Given the description of an element on the screen output the (x, y) to click on. 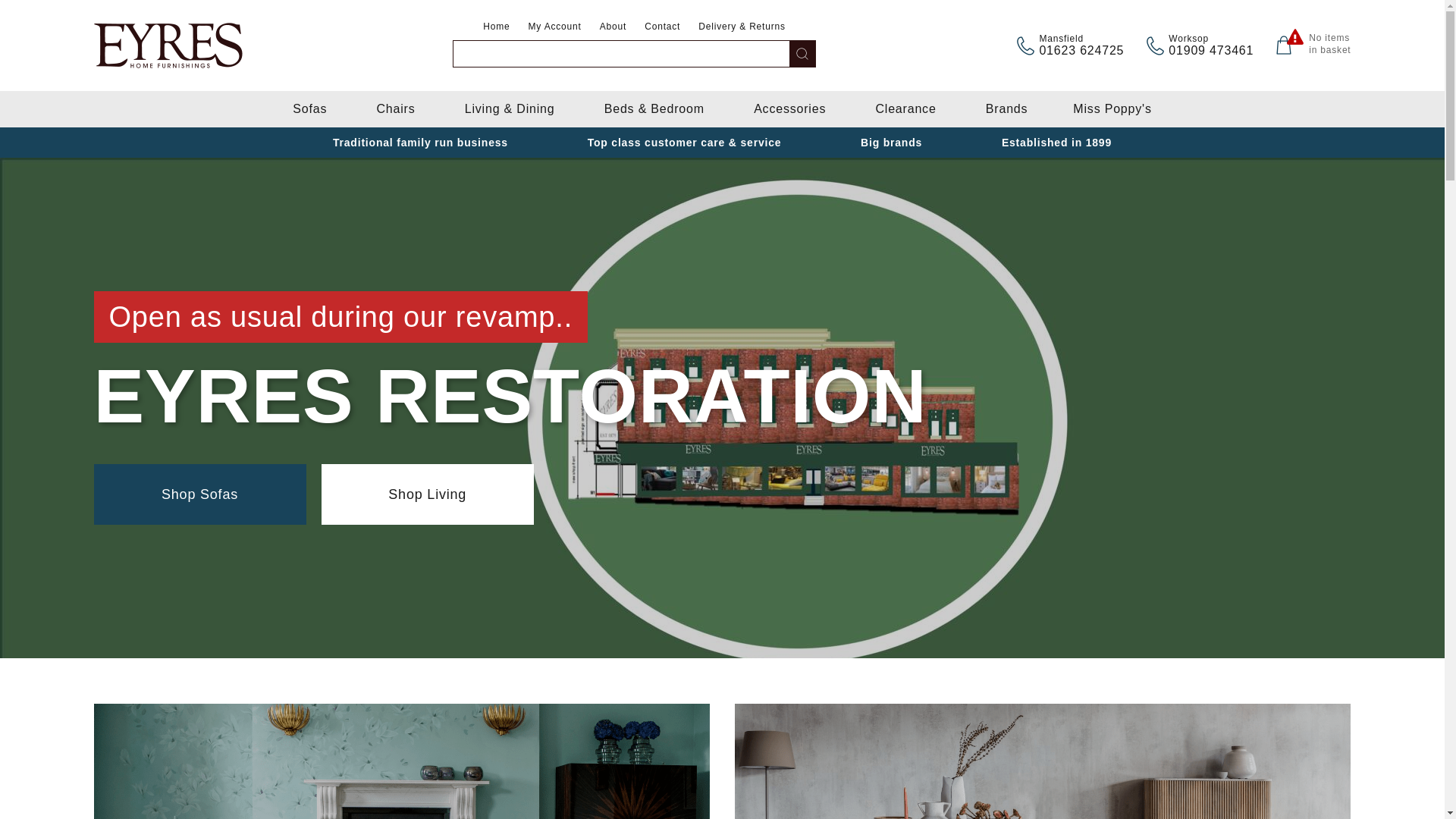
About (612, 26)
Contact (1327, 43)
Sofas (662, 26)
Home (309, 108)
My Account (496, 26)
